Given the description of an element on the screen output the (x, y) to click on. 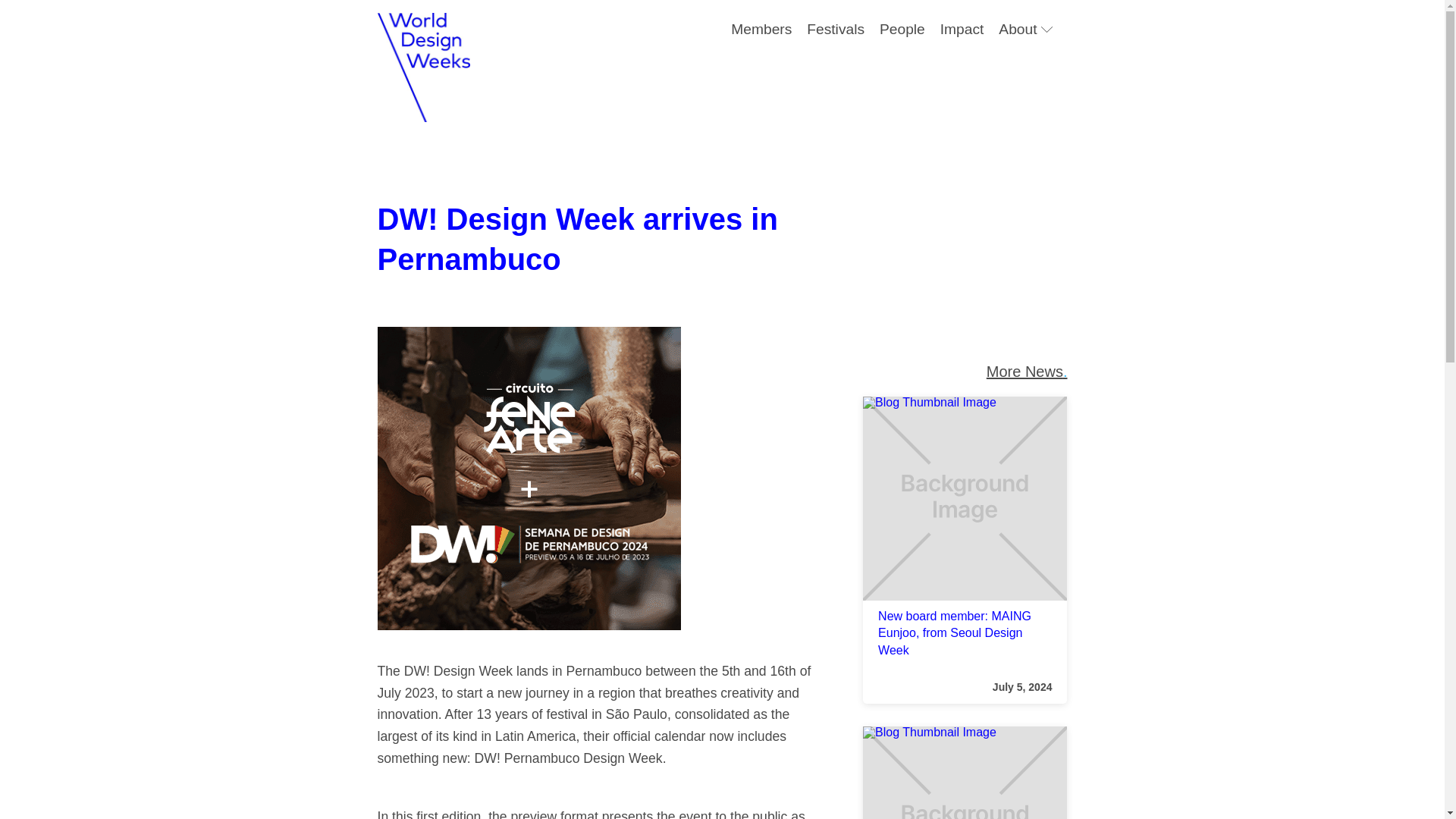
People (894, 29)
Members (754, 29)
Impact (954, 29)
Festivals (828, 29)
